Given the description of an element on the screen output the (x, y) to click on. 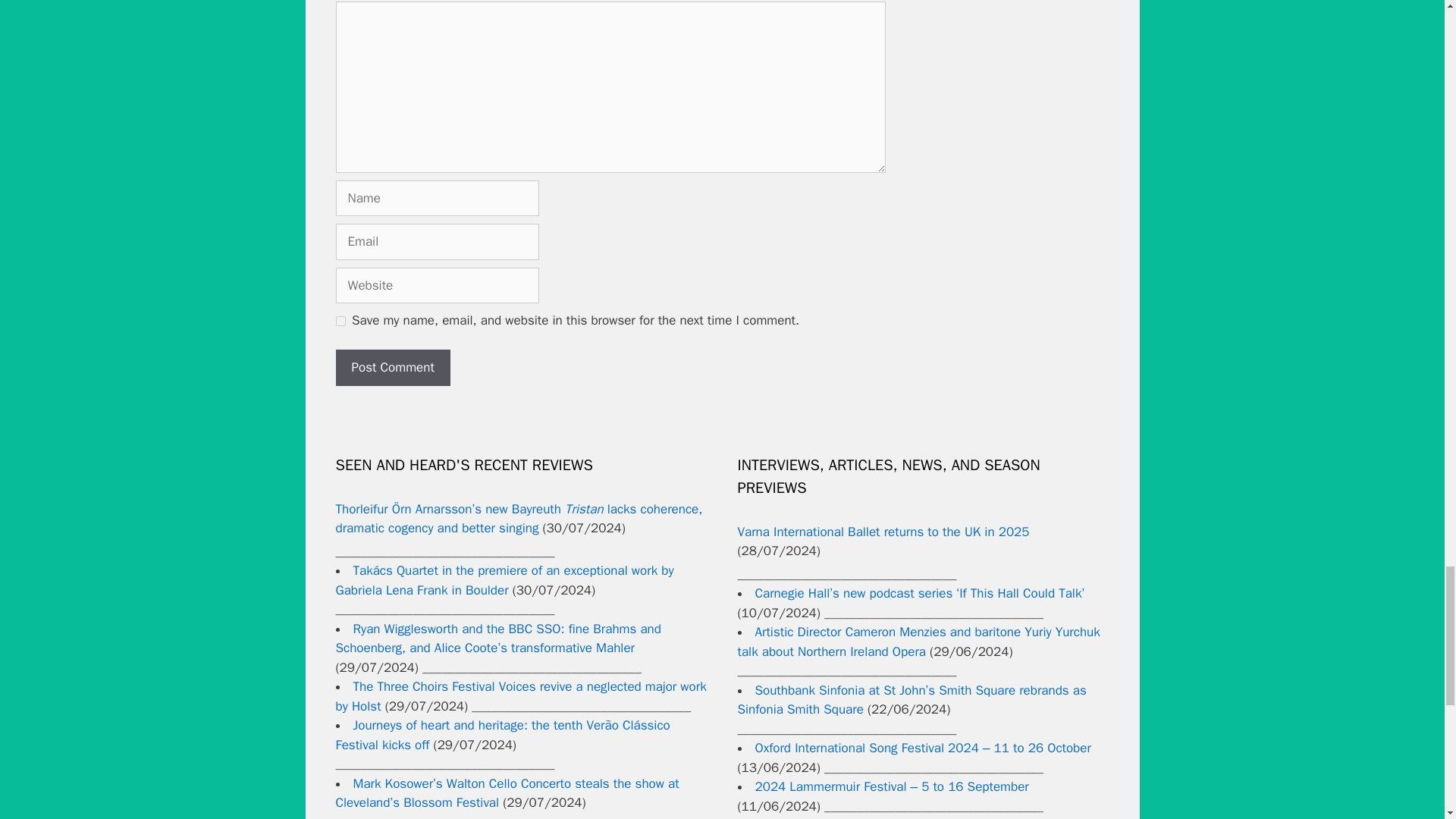
yes (339, 320)
Post Comment (391, 367)
